Given the description of an element on the screen output the (x, y) to click on. 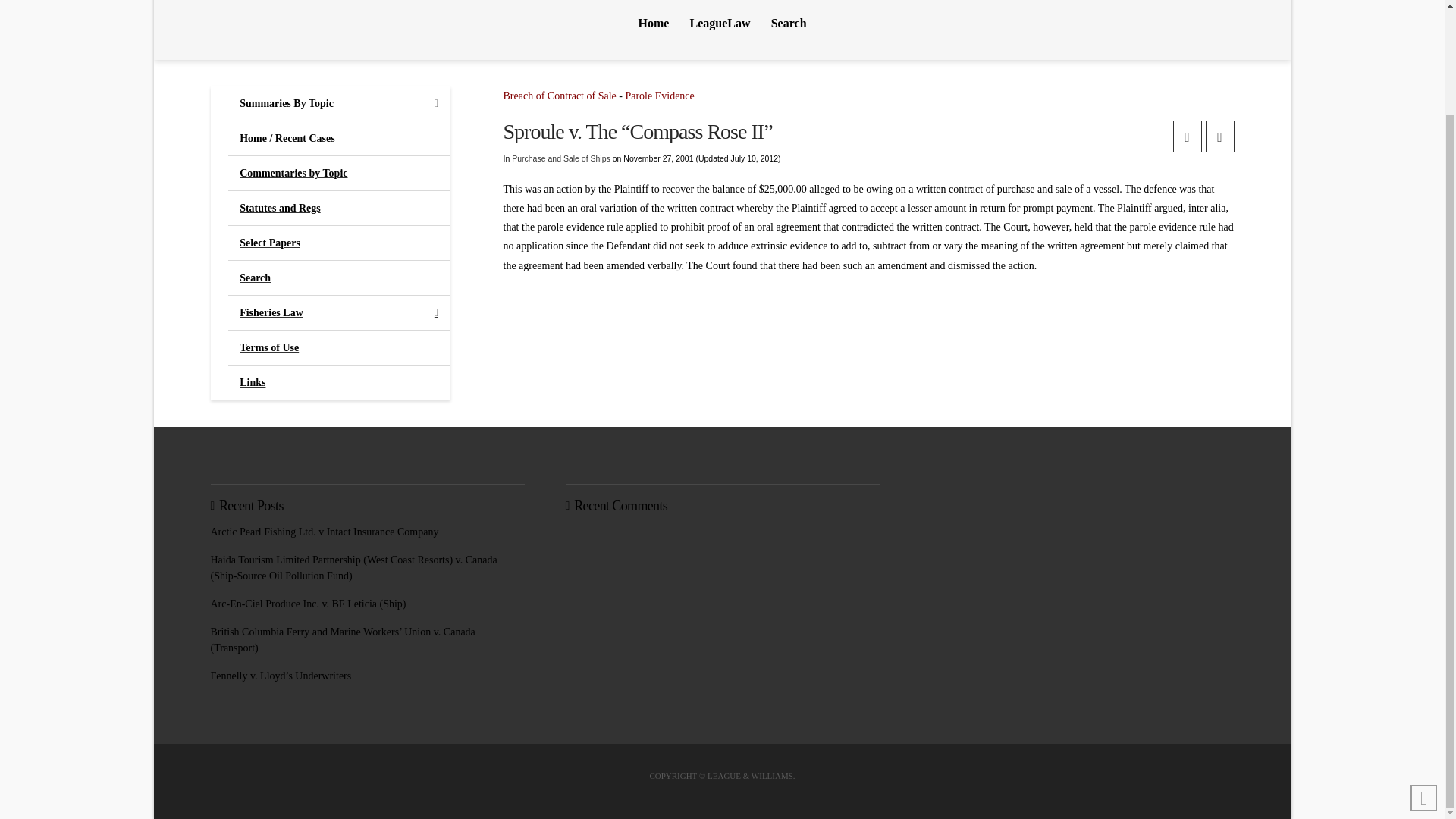
Back to Top (1423, 675)
Summaries By Topic (338, 103)
Parole Evidence (659, 95)
Search (788, 29)
Purchase and Sale of Ships (561, 157)
Breach of Contract of Sale (559, 95)
LeagueLaw (719, 29)
